Given the description of an element on the screen output the (x, y) to click on. 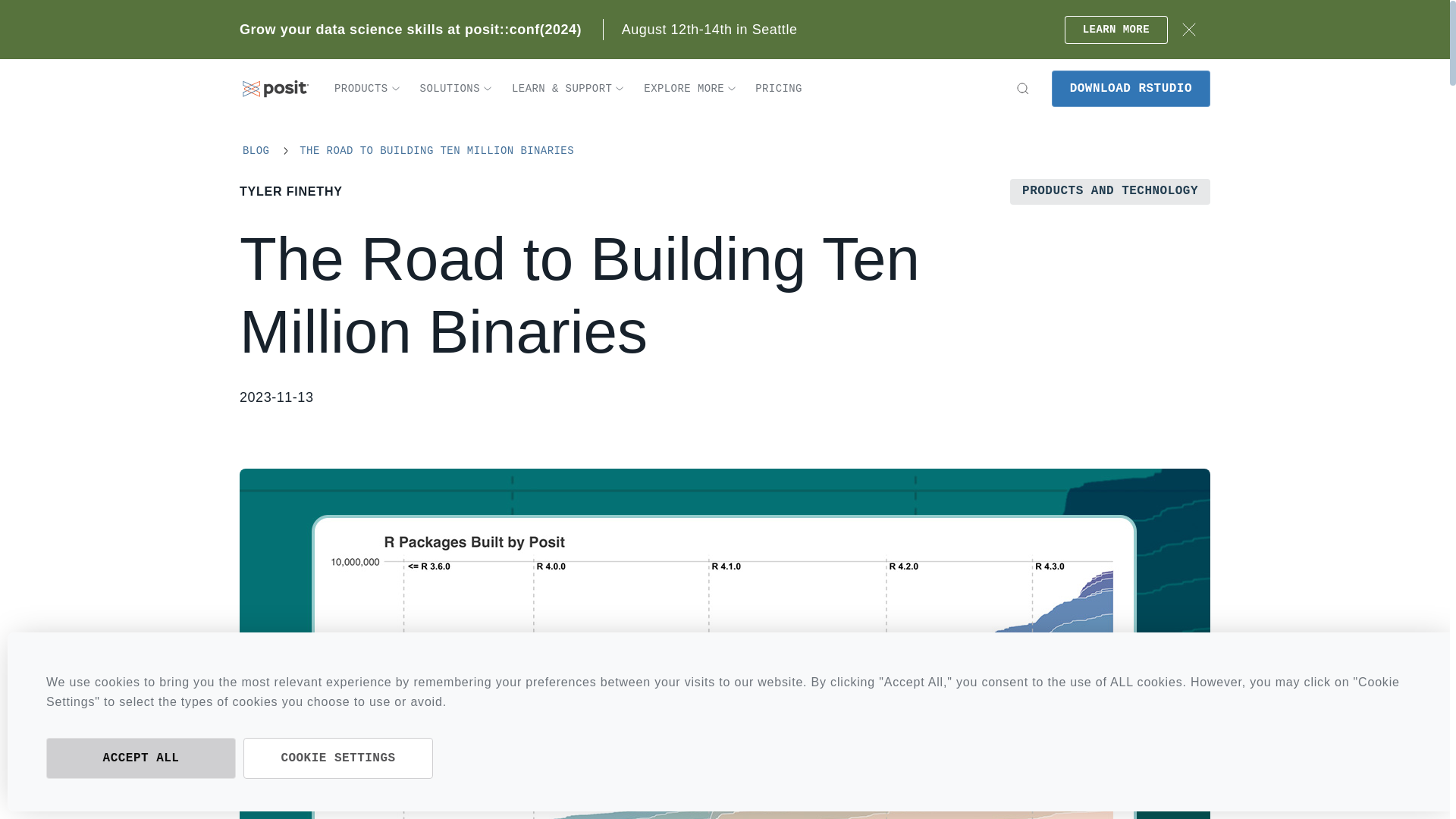
PRODUCTS (367, 88)
LEARN MORE (1115, 29)
